Given the description of an element on the screen output the (x, y) to click on. 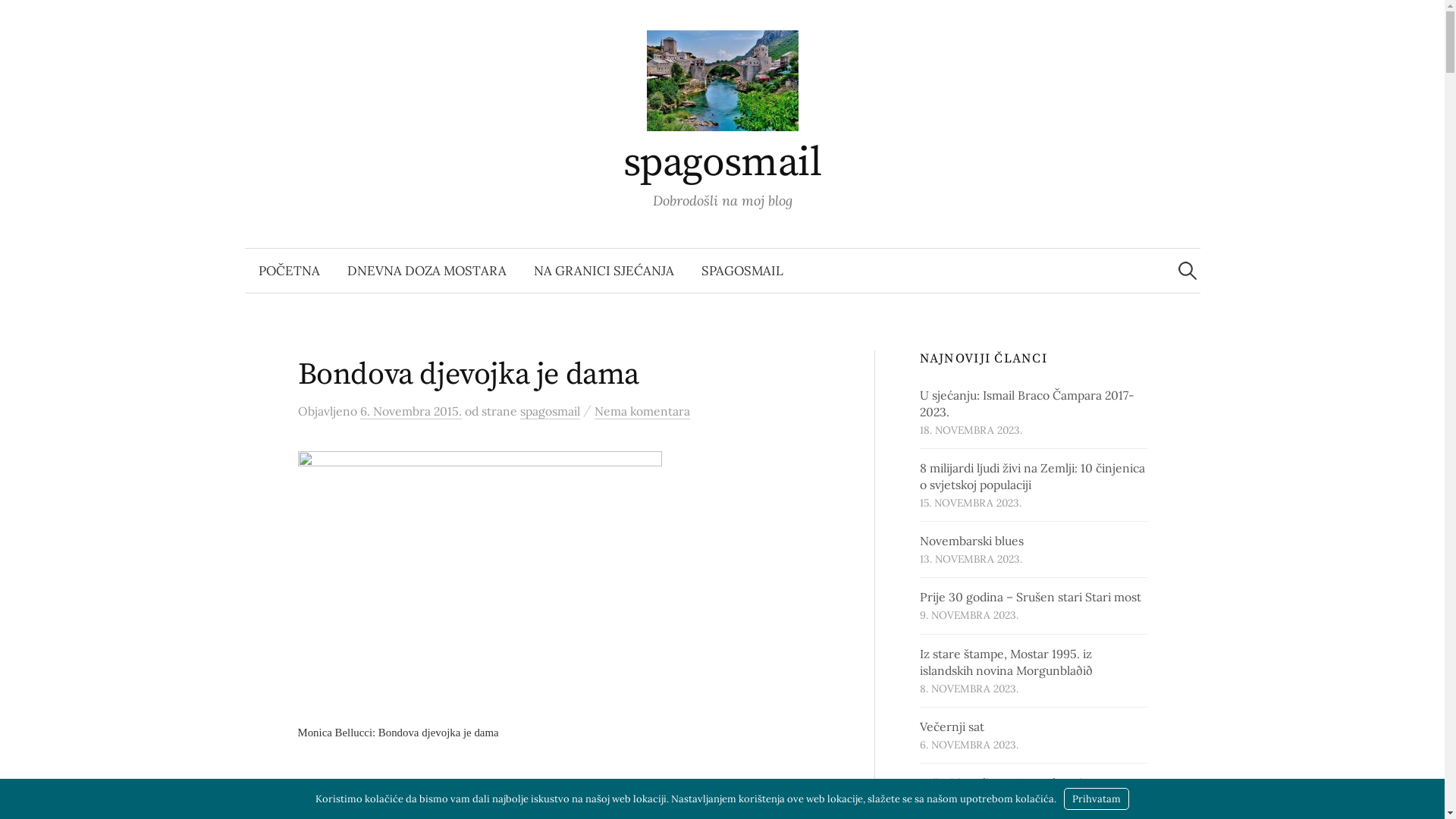
Nema komentara
na Bondova djevojka je dama Element type: text (642, 411)
SPAGOSMAIL Element type: text (741, 270)
spagosmail Element type: text (550, 411)
DNEVNA DOZA MOSTARA Element type: text (426, 270)
6. Novembra 2015. Element type: text (410, 411)
spagosmail Element type: text (722, 162)
Novembarski blues Element type: text (971, 540)
Pretraga Element type: text (18, 18)
Pretraga Element type: text (47, 17)
Prihvatam Element type: text (1096, 798)
